Given the description of an element on the screen output the (x, y) to click on. 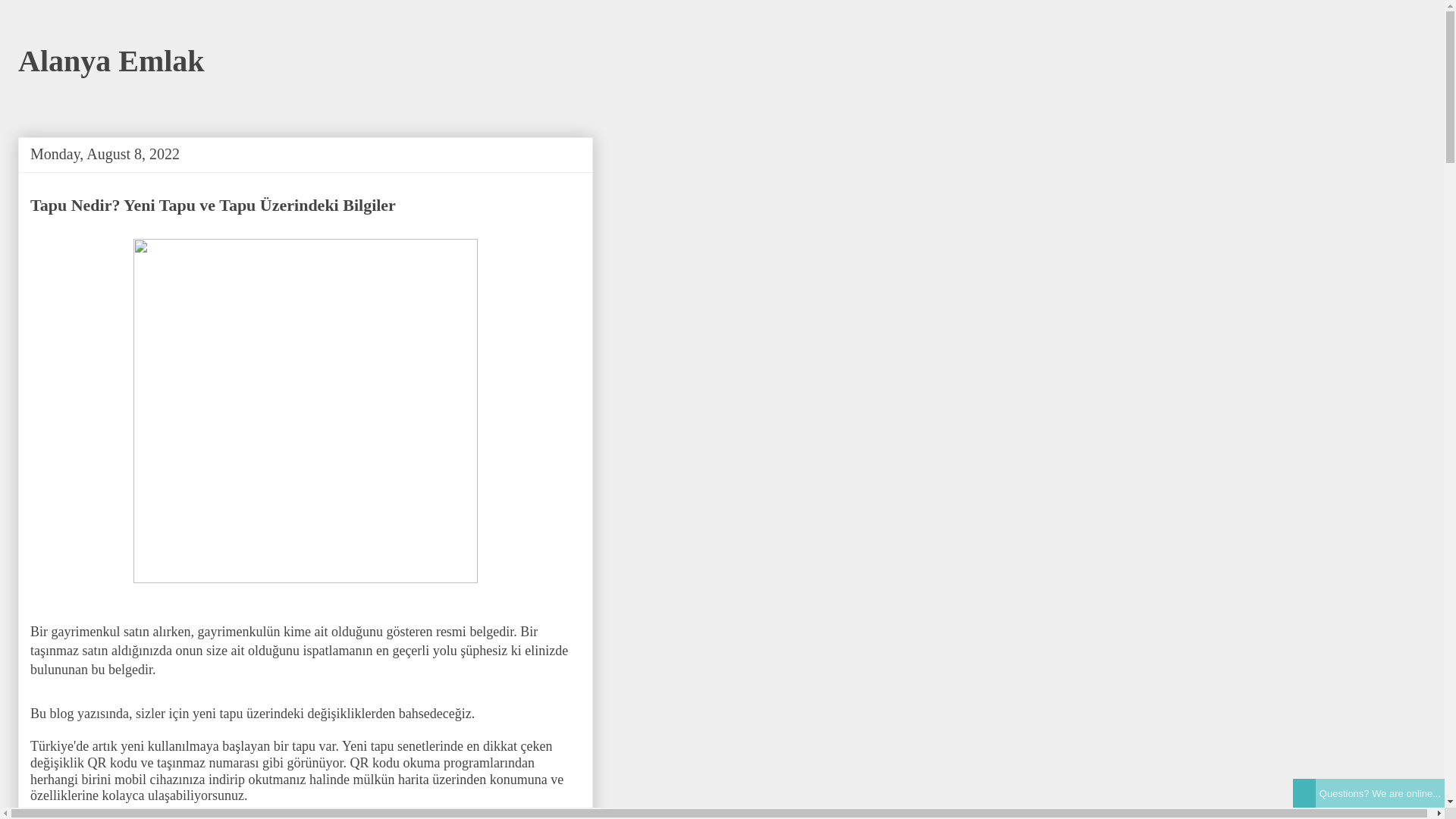
Online Element type: hover (1304, 793)
Alanya Emlak Element type: text (111, 60)
